Given the description of an element on the screen output the (x, y) to click on. 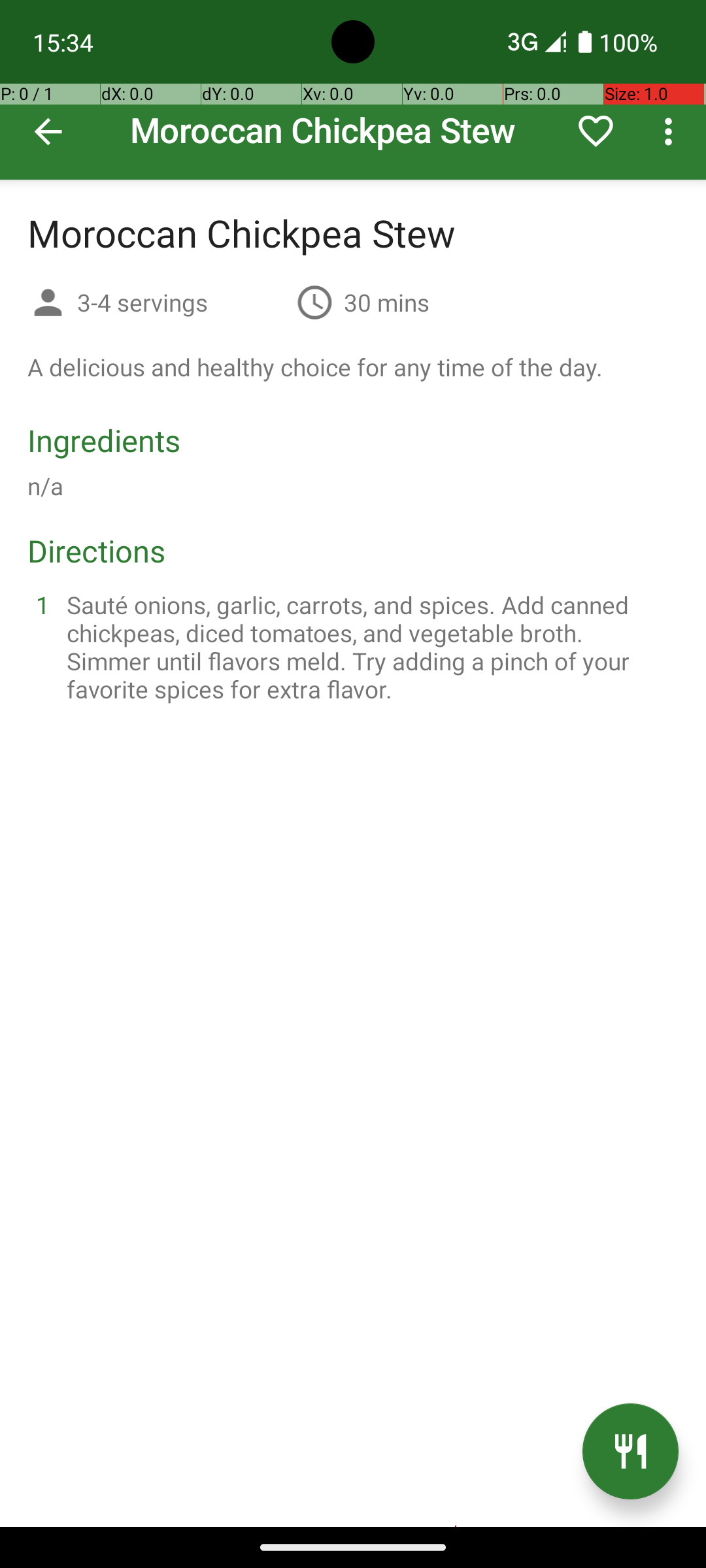
Moroccan Chickpea Stew Element type: android.widget.FrameLayout (353, 89)
3-4 servings Element type: android.widget.TextView (181, 301)
30 mins Element type: android.widget.TextView (386, 301)
n/a Element type: android.widget.TextView (45, 485)
Sauté onions, garlic, carrots, and spices. Add canned chickpeas, diced tomatoes, and vegetable broth. Simmer until flavors meld. Try adding a pinch of your favorite spices for extra flavor. Element type: android.widget.TextView (368, 646)
